Given the description of an element on the screen output the (x, y) to click on. 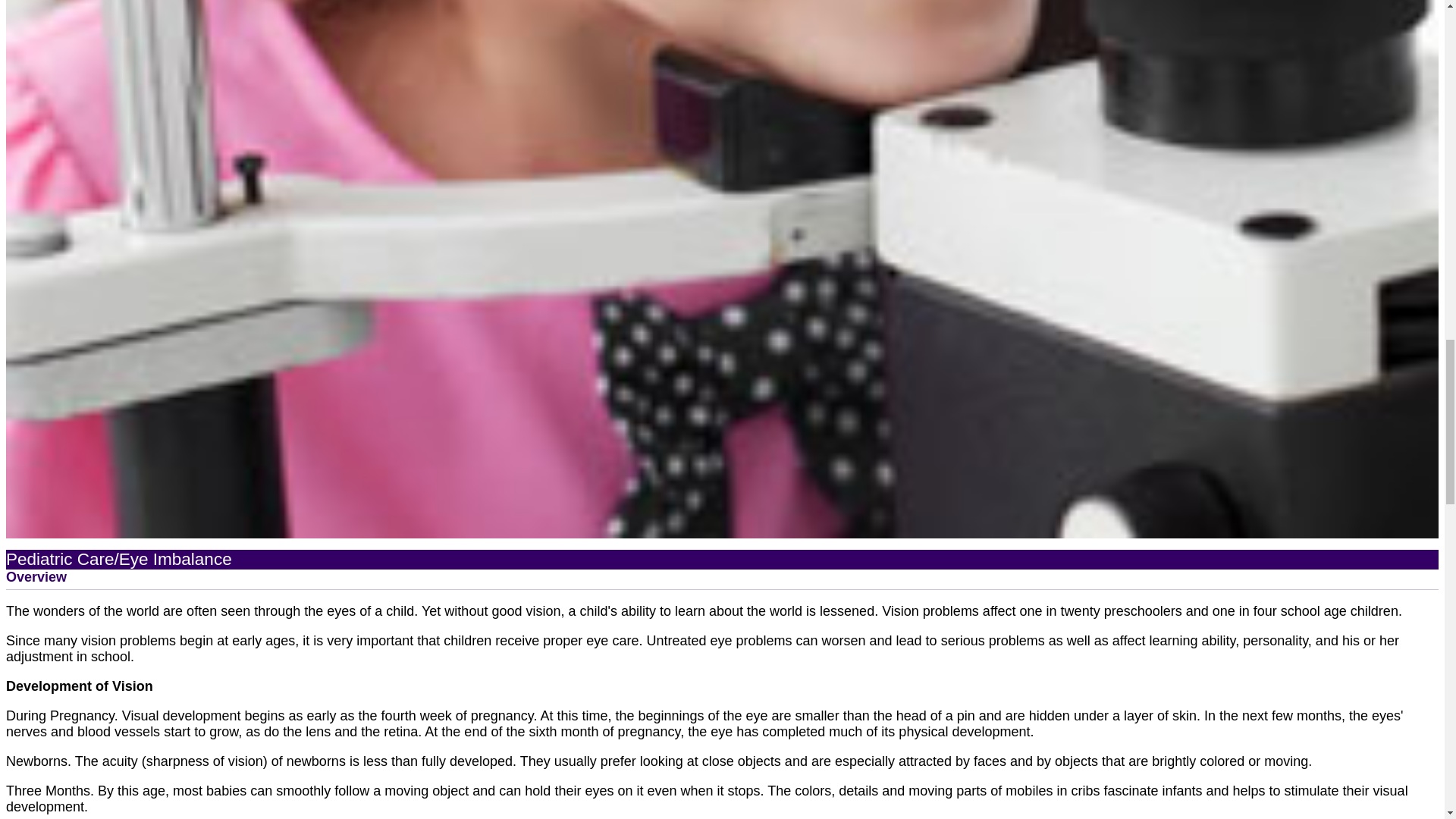
Overview (35, 576)
